Given the description of an element on the screen output the (x, y) to click on. 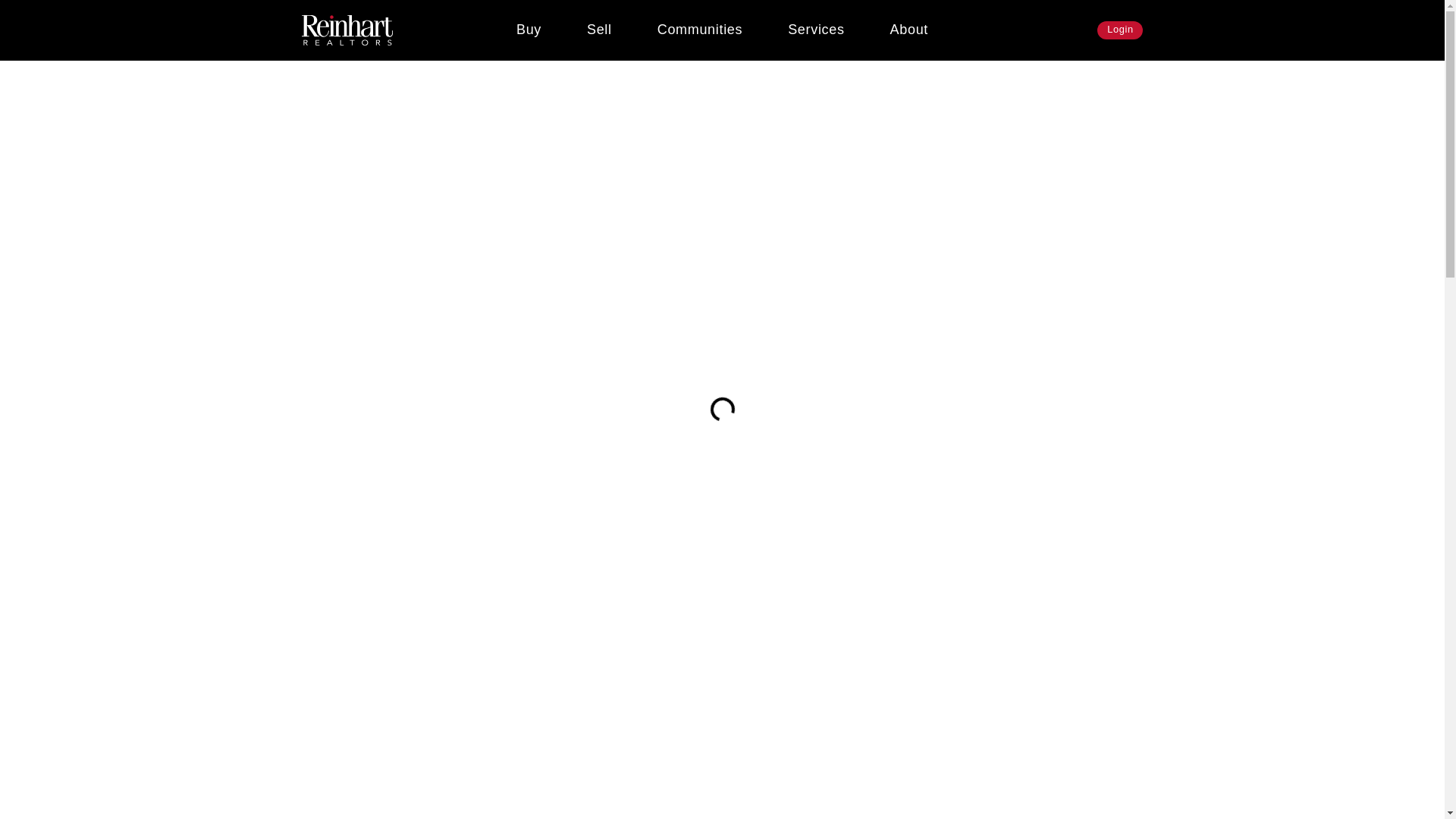
Communities (699, 30)
Reinhart Realtors Home link (347, 30)
Sell (599, 30)
Home (305, 83)
Buy (528, 30)
